Given the description of an element on the screen output the (x, y) to click on. 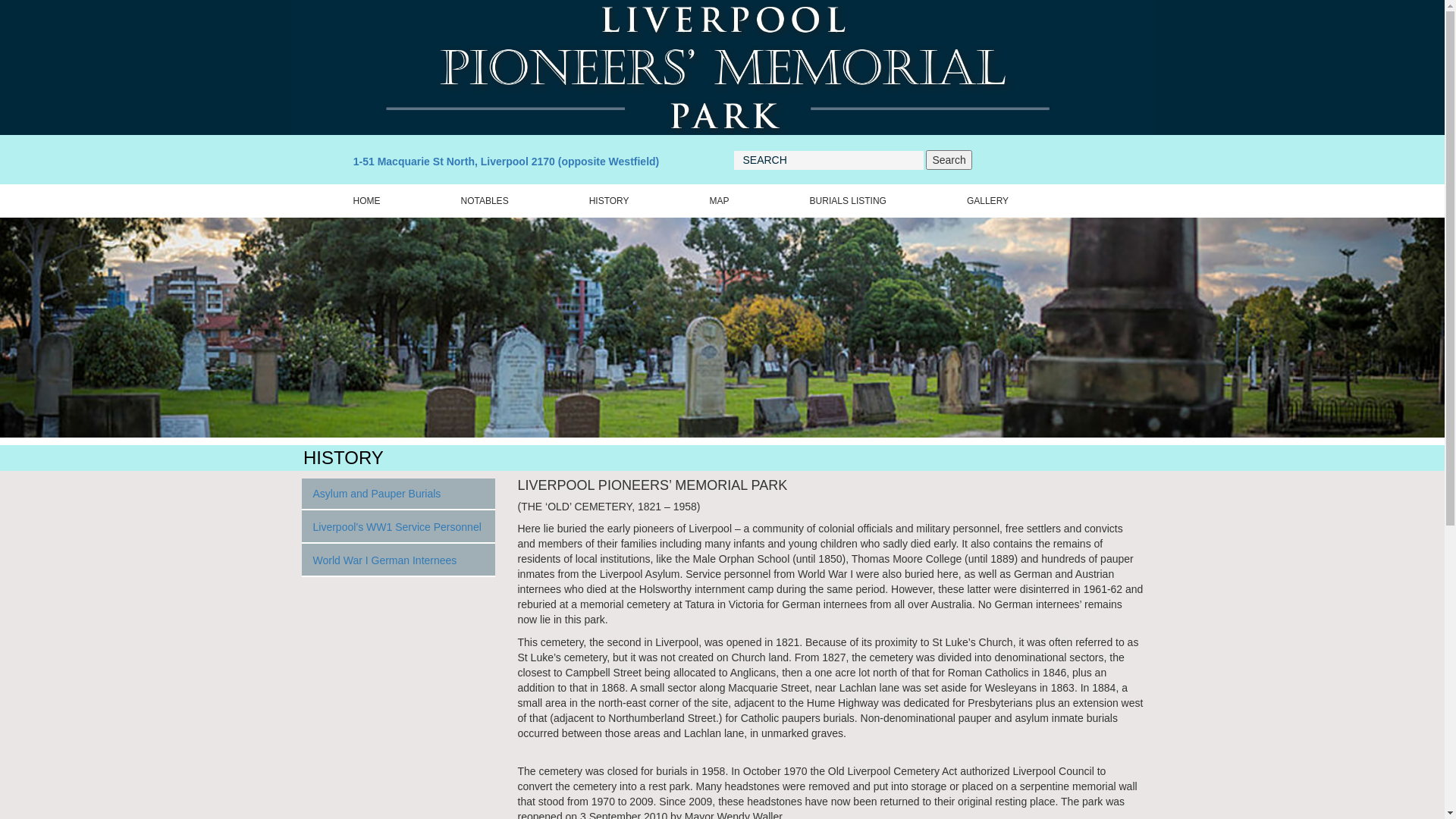
MAP Element type: text (719, 200)
Search Element type: text (948, 159)
Banner01.png Element type: hover (722, 327)
Asylum and Pauper Burials Element type: text (398, 493)
NOTABLES Element type: text (484, 200)
GALLERY Element type: text (987, 200)
1-51 Macquarie St North, Liverpool 2170 (opposite Westfield) Element type: text (506, 161)
HISTORY Element type: text (609, 200)
HOME Element type: text (366, 200)
BURIALS LISTING Element type: text (847, 200)
World War I German Internees Element type: text (398, 560)
